Given the description of an element on the screen output the (x, y) to click on. 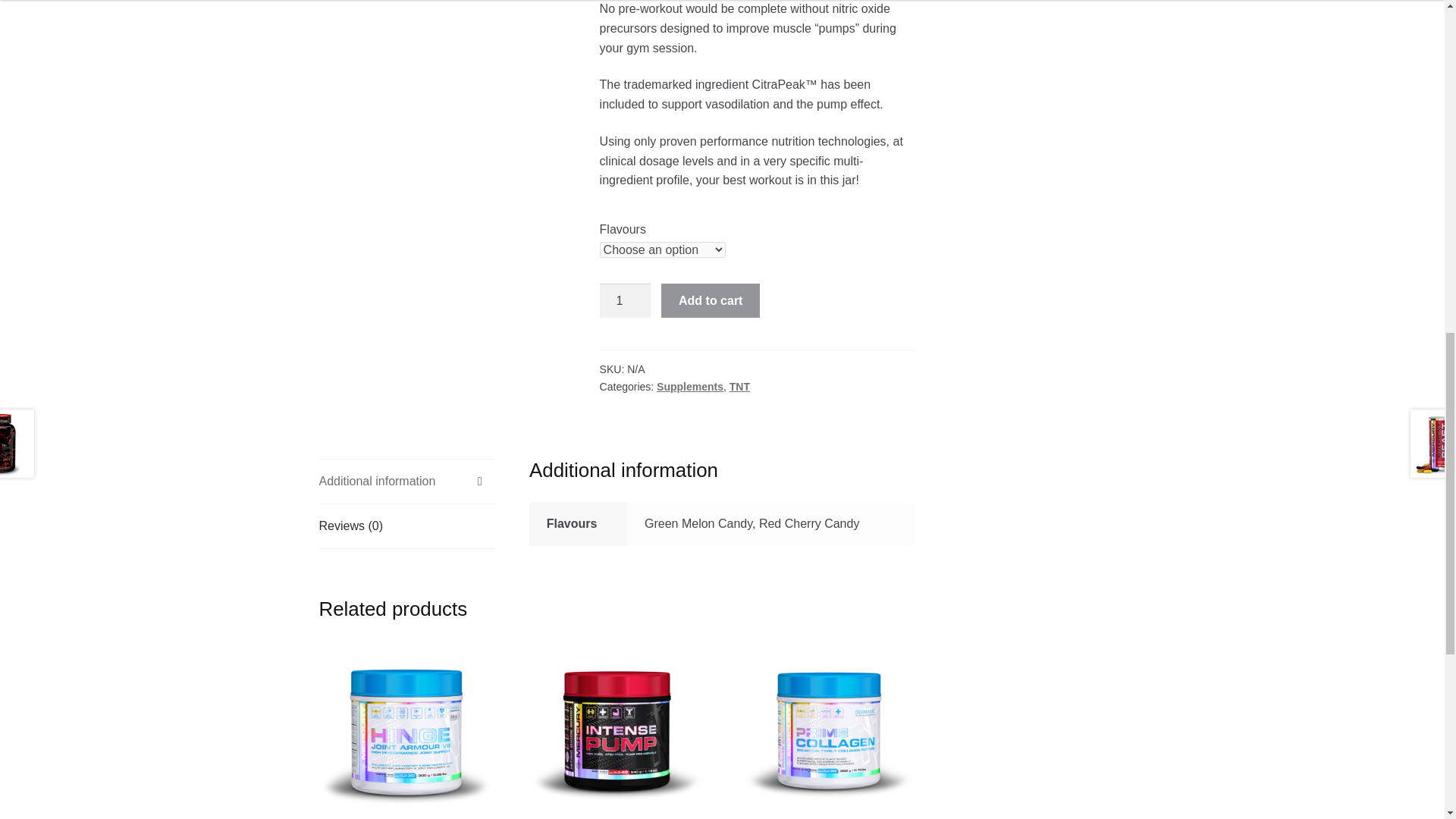
TNT (739, 386)
Additional information (406, 730)
Add to cart (406, 481)
1 (710, 300)
Supplements (624, 300)
Qty (689, 386)
